Given the description of an element on the screen output the (x, y) to click on. 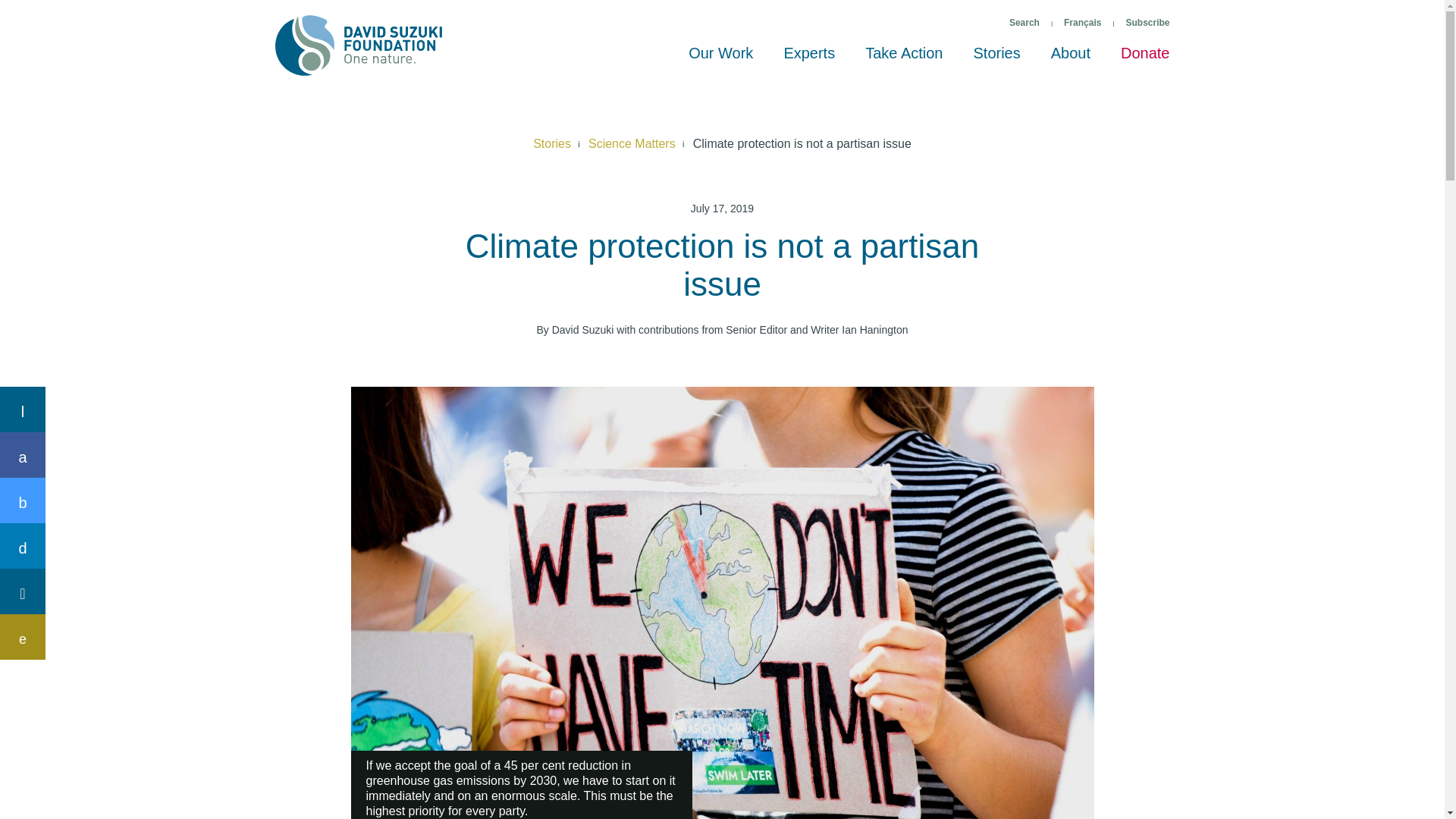
About (1070, 60)
Take Action (904, 60)
Subscribe (1146, 22)
Stories (996, 60)
Experts (809, 60)
Donate (1145, 60)
Search (1024, 22)
Science Matters (631, 143)
Stories (551, 143)
Our Work (720, 60)
